Given the description of an element on the screen output the (x, y) to click on. 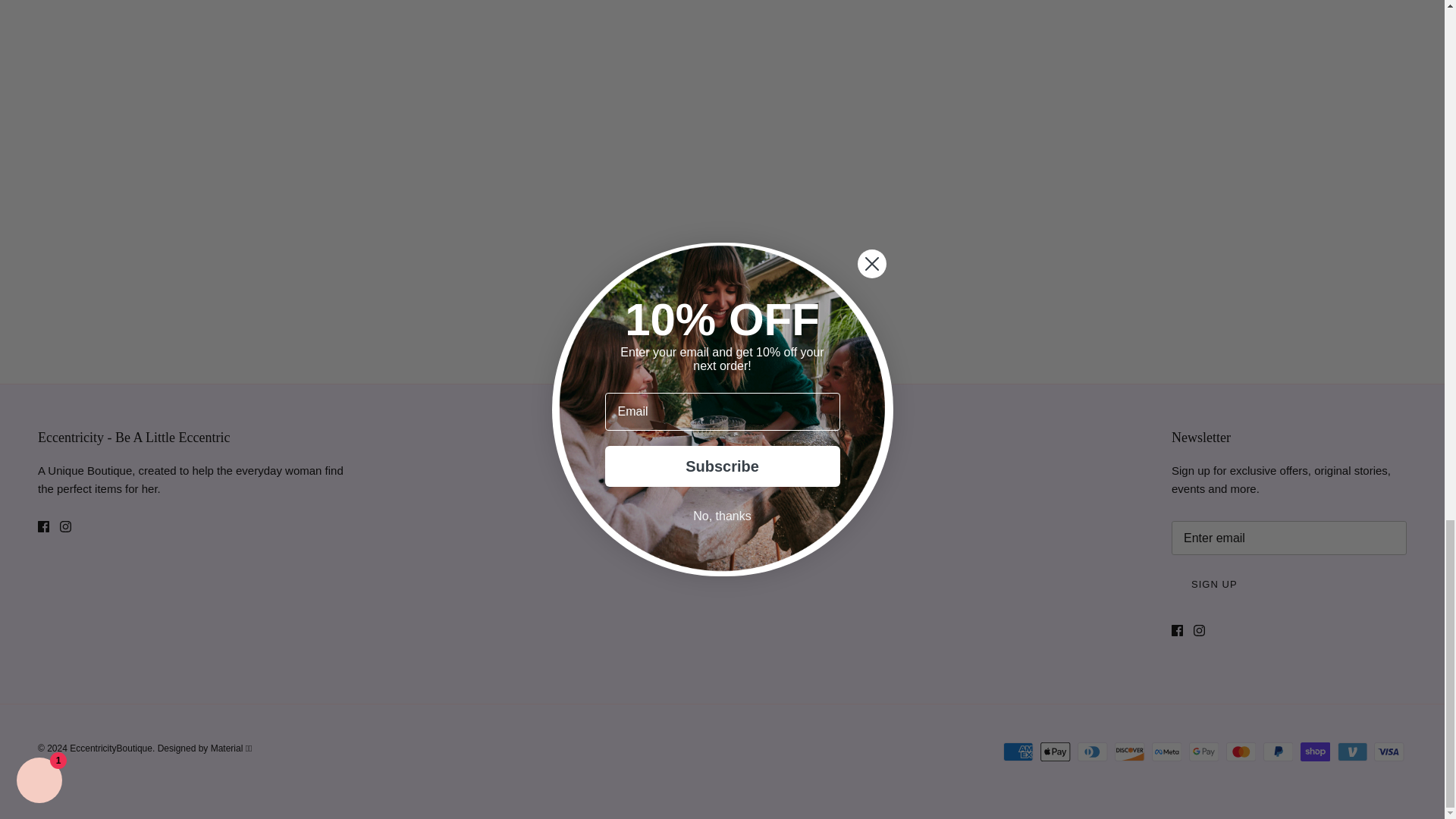
Apple Pay (1055, 751)
Facebook (1177, 630)
Instagram (1199, 630)
Instagram (65, 526)
American Express (1018, 751)
Meta Pay (1166, 751)
Facebook (43, 526)
Discover (1129, 751)
Diners Club (1092, 751)
